Given the description of an element on the screen output the (x, y) to click on. 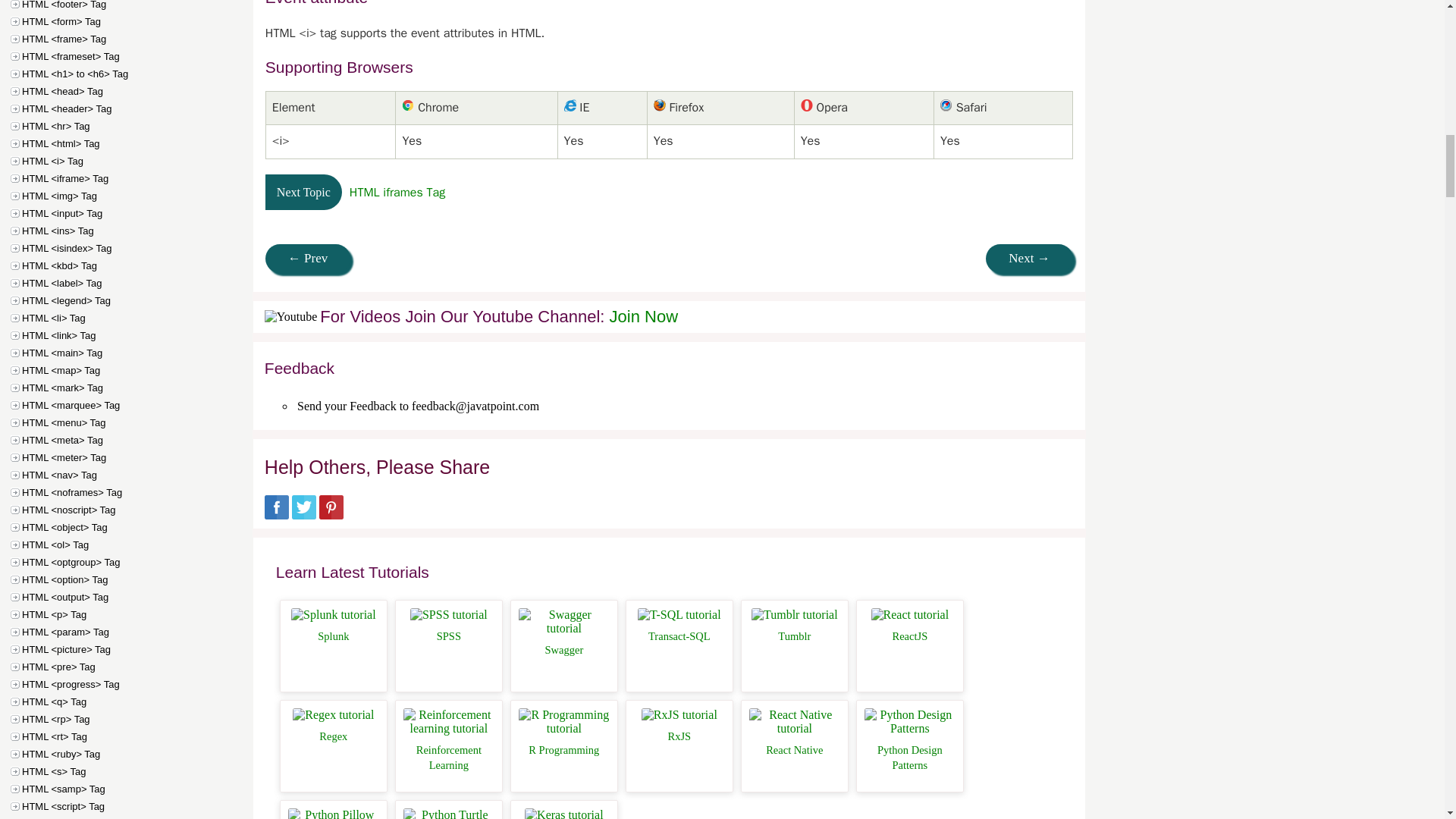
Pinterest (330, 514)
Facebook (276, 514)
Twitter (303, 514)
